Given the description of an element on the screen output the (x, y) to click on. 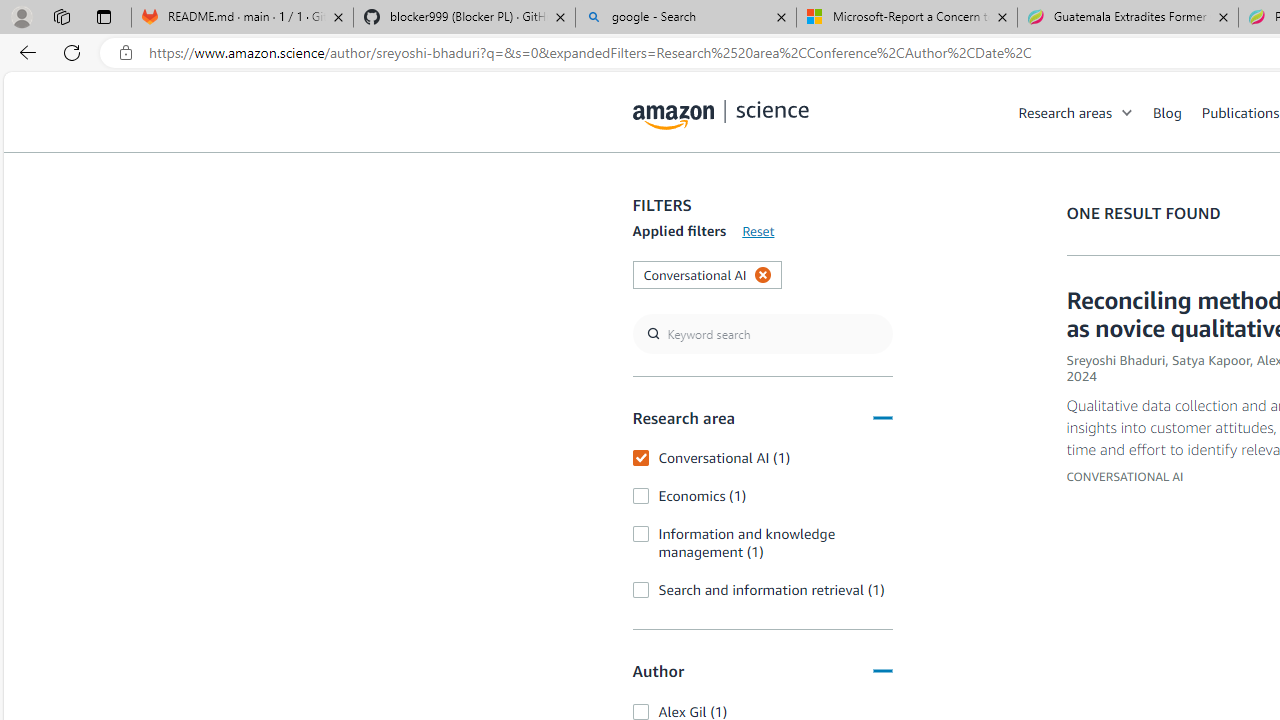
Class: icon-magnify (654, 192)
Satya Kapoor (1210, 360)
CONVERSATIONAL AI (1125, 476)
home page (721, 110)
Reset (758, 231)
search (762, 333)
Blog (1177, 111)
